Given the description of an element on the screen output the (x, y) to click on. 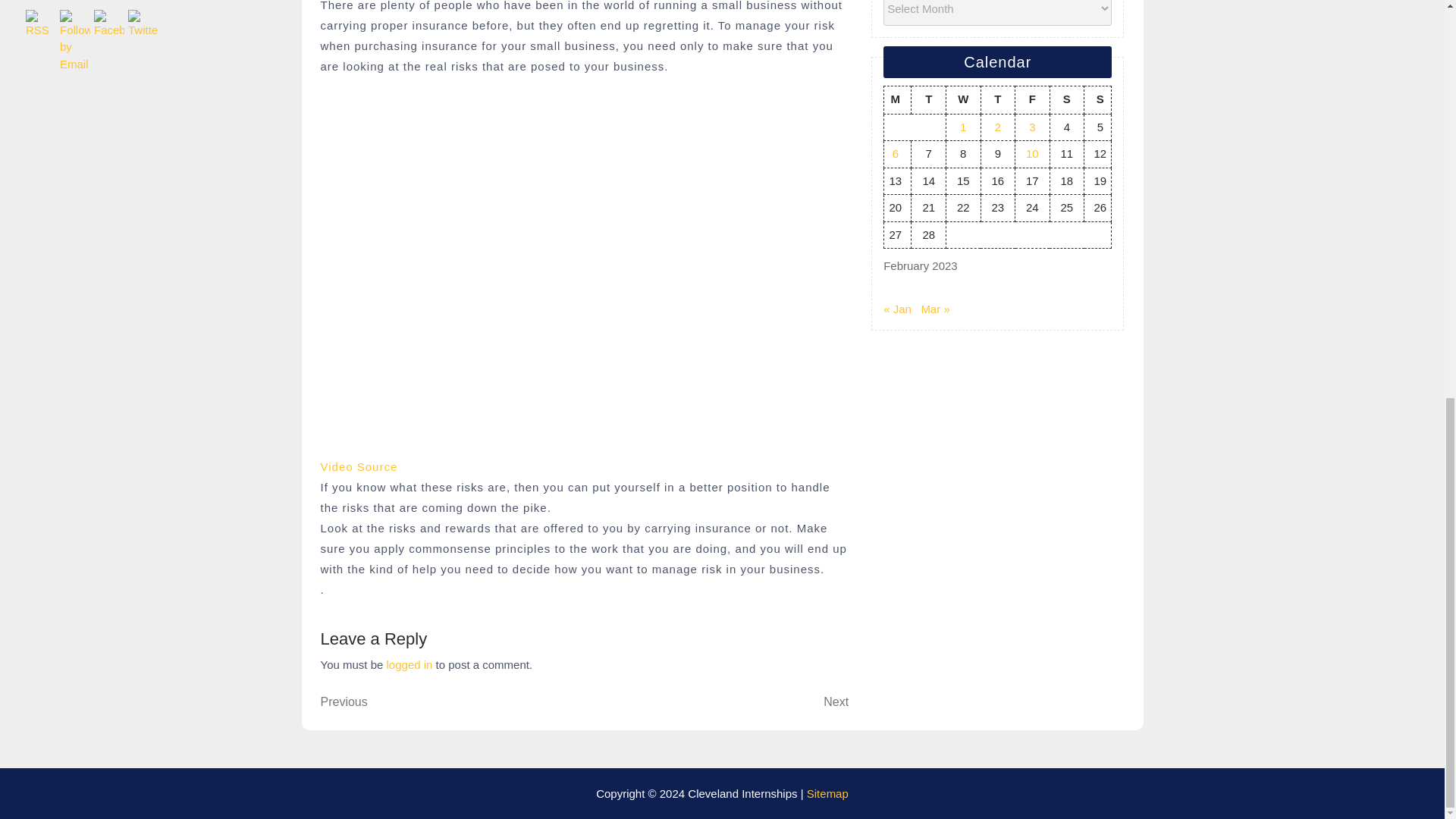
Wednesday (963, 99)
Sitemap (827, 793)
Saturday (716, 701)
logged in (1066, 99)
Thursday (409, 664)
Monday (996, 99)
Video Source (897, 99)
Facebook (358, 466)
Friday (108, 23)
